Given the description of an element on the screen output the (x, y) to click on. 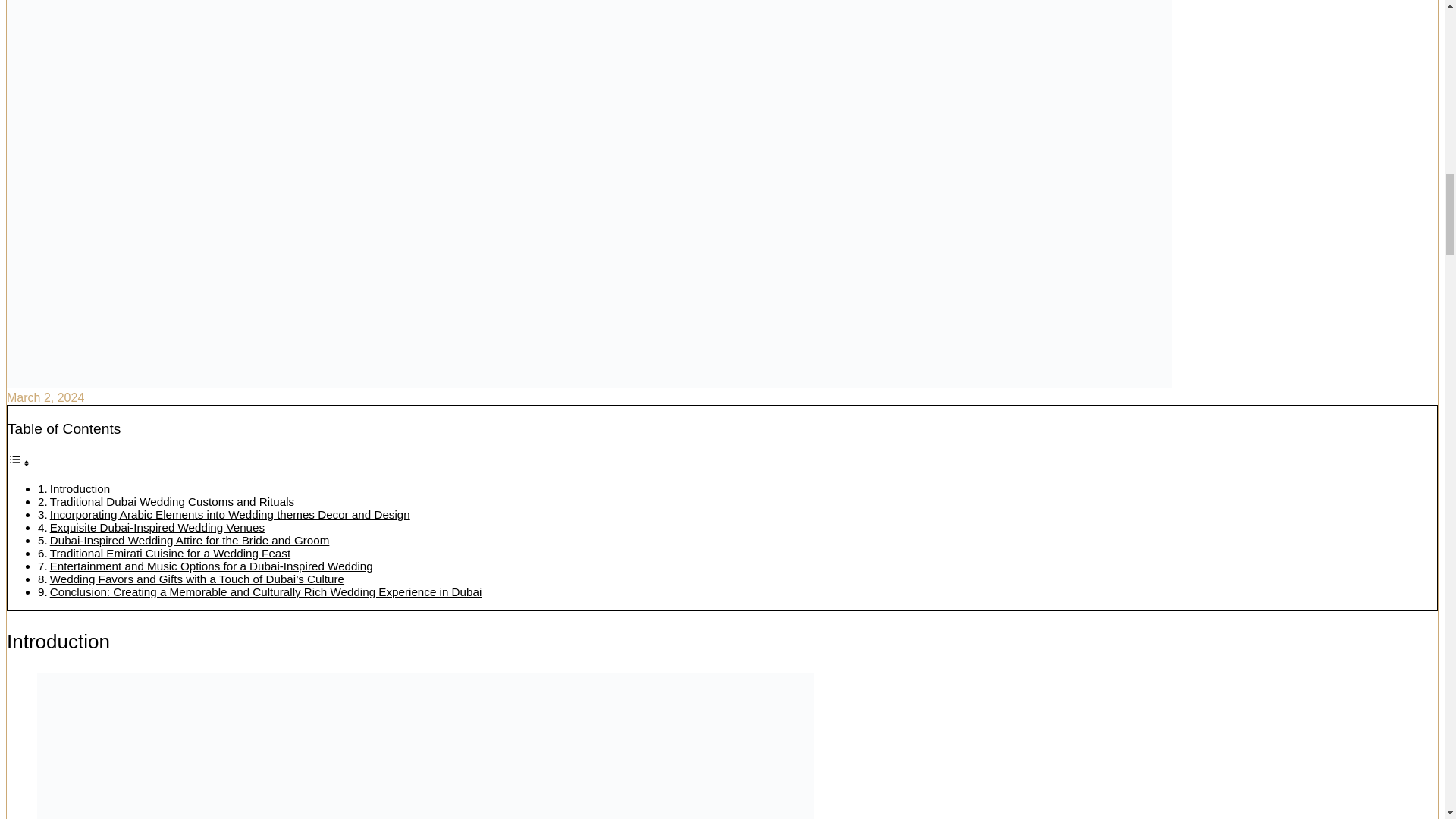
Traditional Emirati Cuisine for a Wedding Feast (169, 553)
Dubai-Inspired Wedding Attire for the Bride and Groom (189, 540)
Traditional Dubai Wedding Customs and Rituals (171, 501)
Introduction (79, 488)
Entertainment and Music Options for a Dubai-Inspired Wedding (210, 565)
Entertainment and Music Options for a Dubai-Inspired Wedding (210, 565)
Introduction (79, 488)
Exquisite Dubai-Inspired Wedding Venues (156, 526)
Traditional Emirati Cuisine for a Wedding Feast (169, 553)
Traditional Dubai Wedding Customs and Rituals (171, 501)
Exquisite Dubai-Inspired Wedding Venues (156, 526)
